Given the description of an element on the screen output the (x, y) to click on. 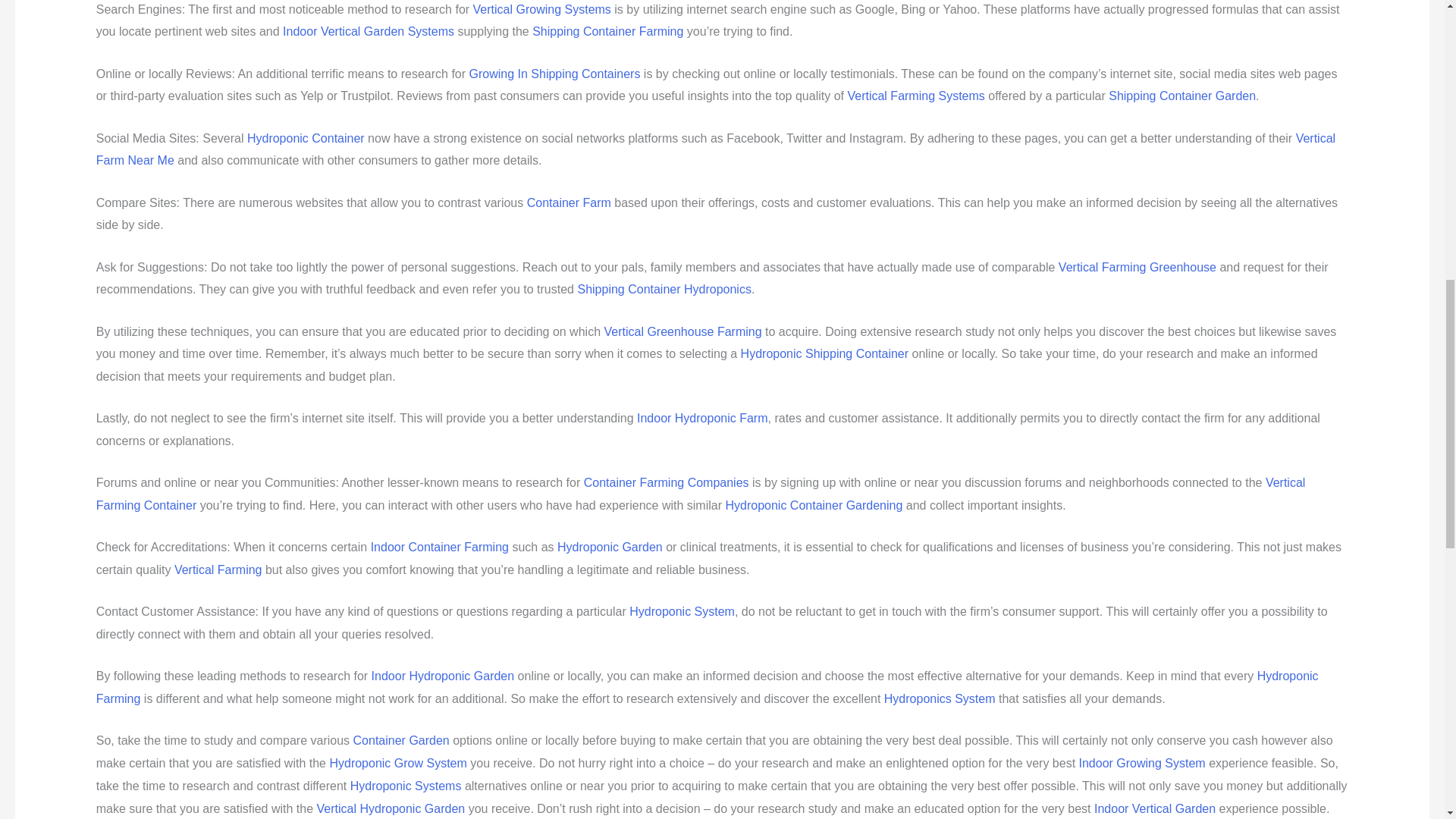
Indoor Vertical Garden Systems (368, 31)
Growing In Shipping Containers (554, 73)
Vertical Growing Systems (542, 9)
Shipping Container Farming (607, 31)
